Given the description of an element on the screen output the (x, y) to click on. 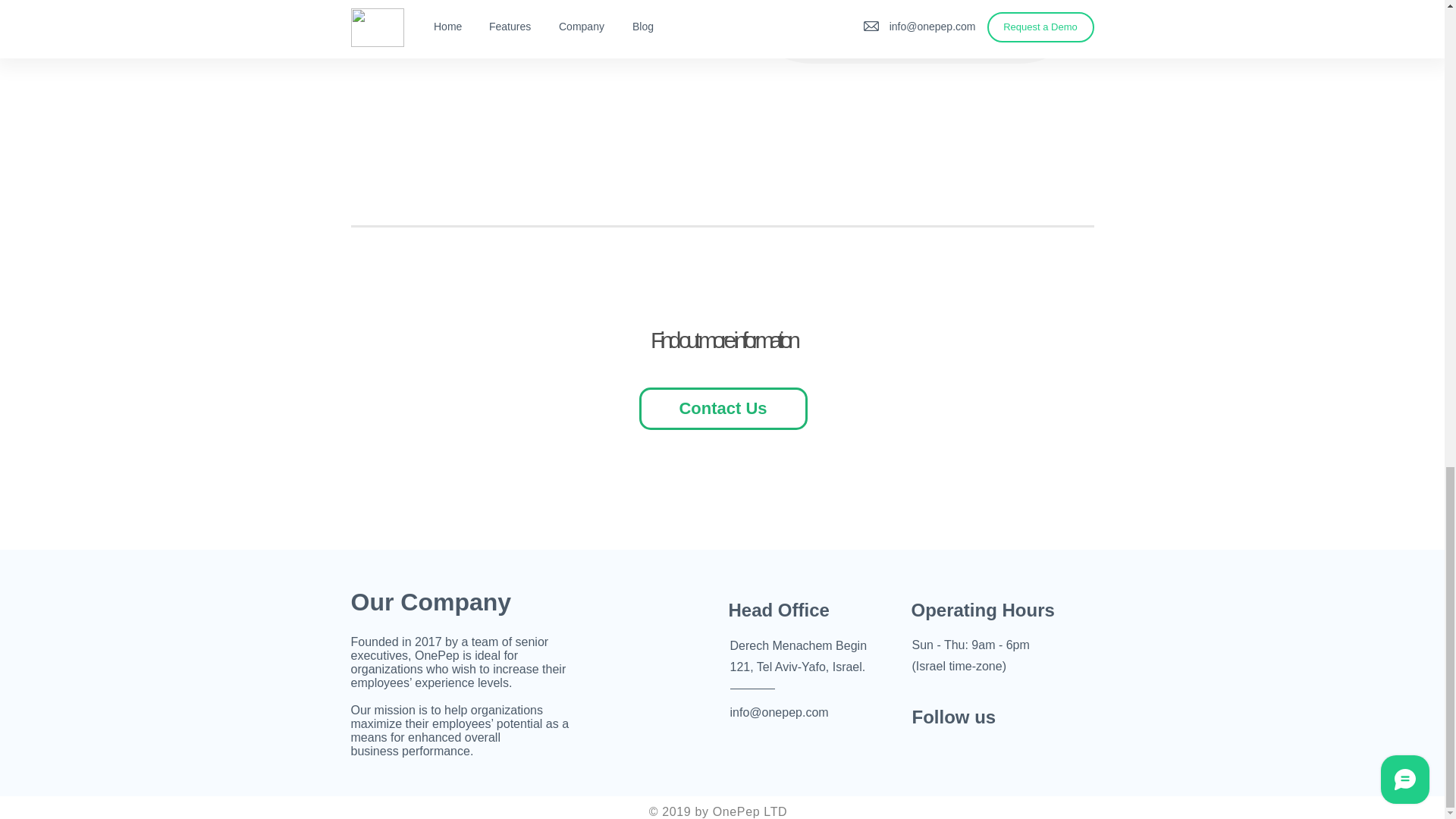
Contact Us (722, 408)
